Given the description of an element on the screen output the (x, y) to click on. 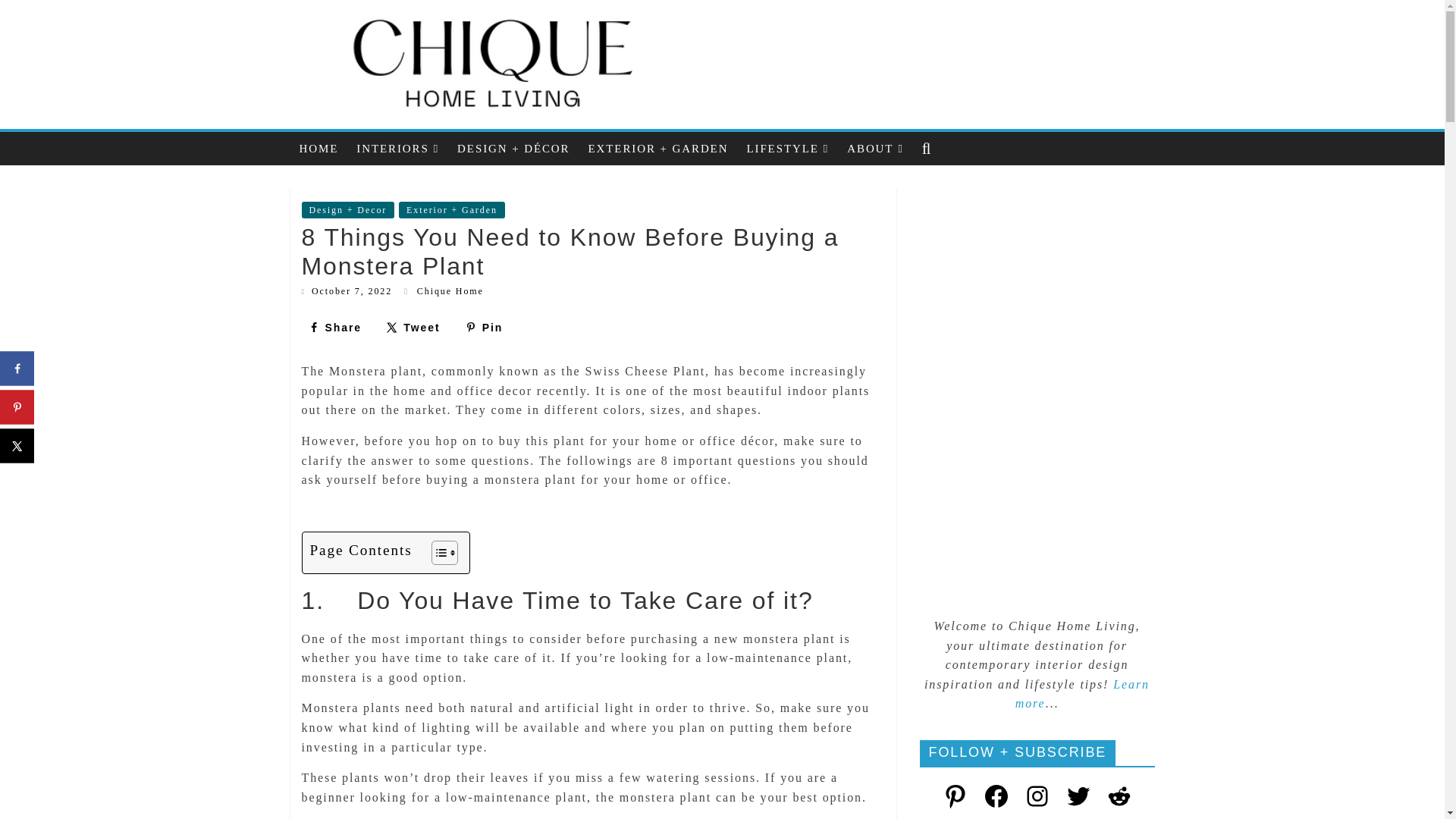
Tweet (413, 327)
Save to Pinterest (483, 327)
Share on X (413, 327)
LIFESTYLE (787, 148)
Pin (483, 327)
INTERIORS (397, 148)
Chique Home (449, 290)
October 7, 2022 (347, 290)
ABOUT (875, 148)
Chique Home (449, 290)
8:30 am (347, 290)
HOME (318, 148)
Share (334, 327)
Share on Facebook (334, 327)
